Given the description of an element on the screen output the (x, y) to click on. 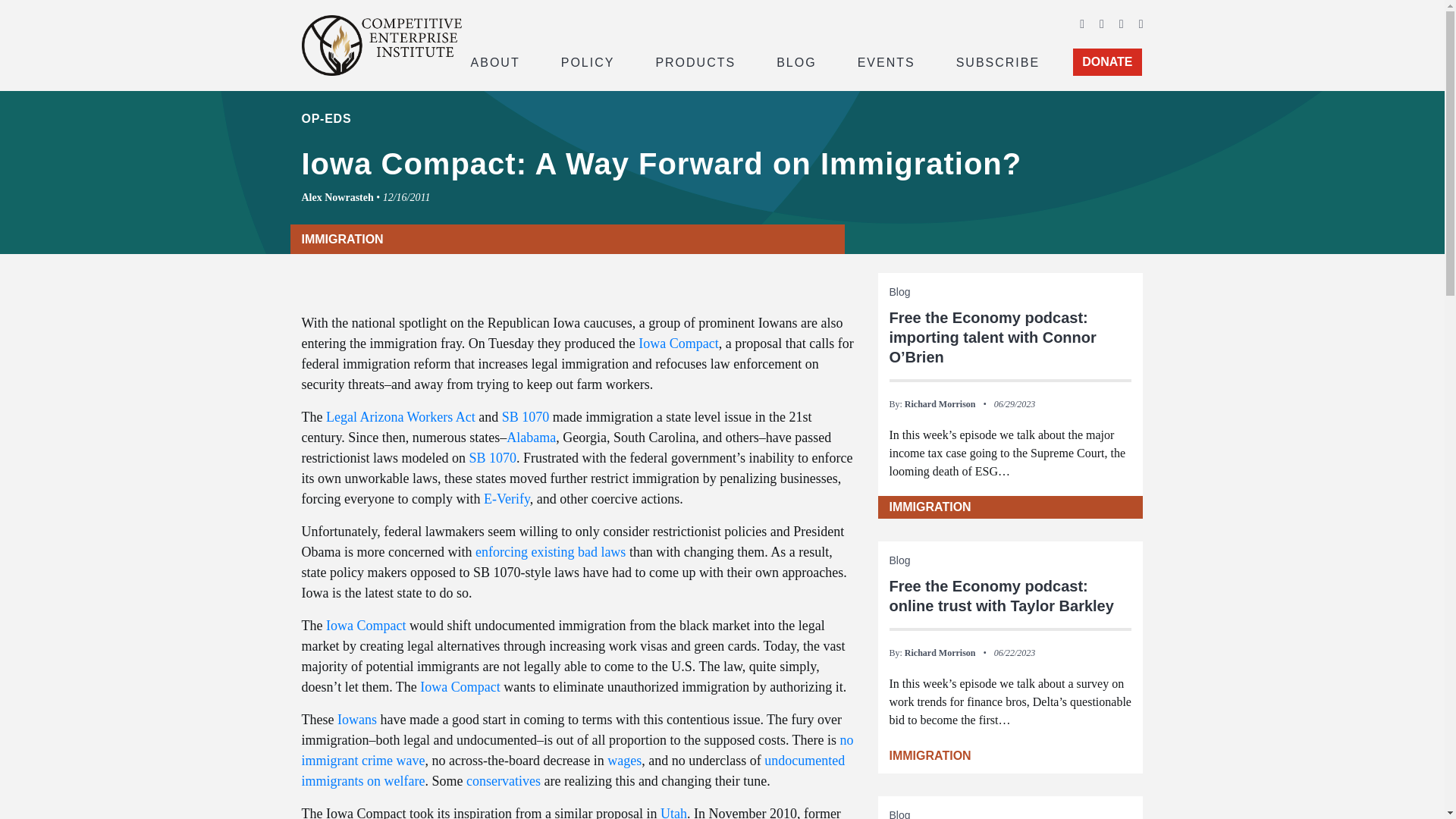
ABOUT (495, 61)
DONATE (1107, 62)
BLOG (796, 61)
EVENTS (886, 61)
SUBSCRIBE (997, 61)
POLICY (588, 61)
PRODUCTS (694, 61)
